Given the description of an element on the screen output the (x, y) to click on. 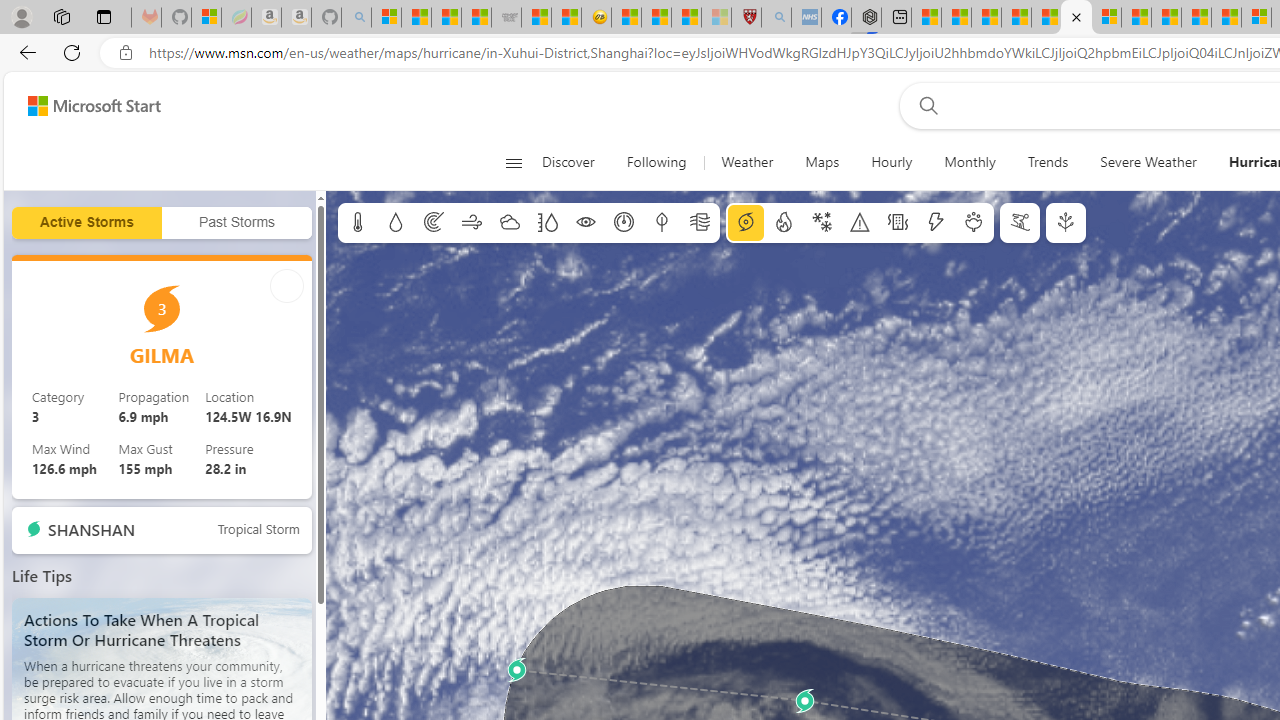
12 Popular Science Lies that Must be Corrected - Sleeping (715, 17)
Visibility (586, 223)
Trends (1047, 162)
